Given the description of an element on the screen output the (x, y) to click on. 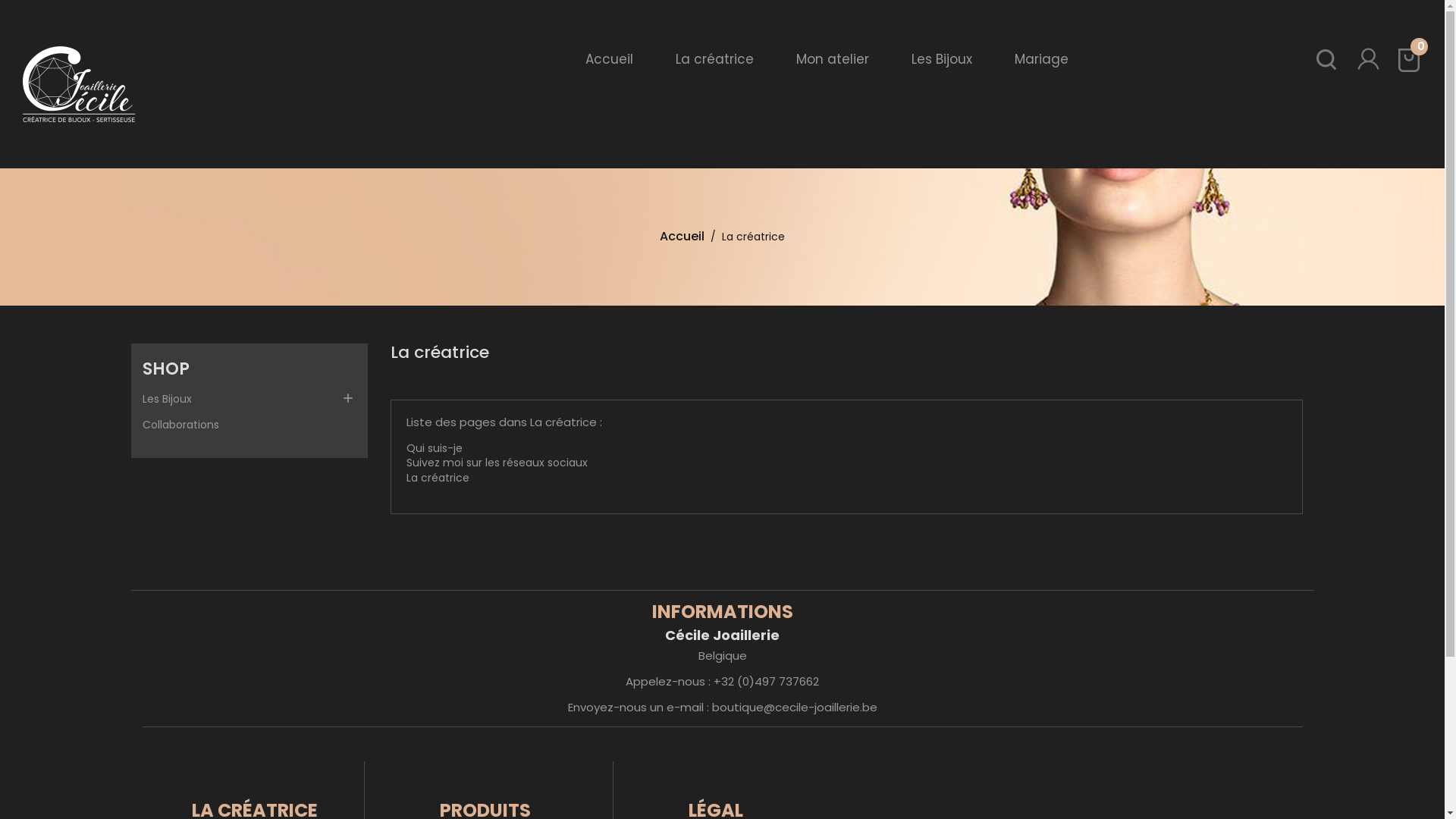
Collaborations Element type: text (249, 423)
Mariage Element type: text (1041, 62)
Accueil Element type: text (681, 235)
Qui suis-je Element type: text (434, 447)
SHOP Element type: text (249, 360)
boutique@cecile-joaillerie.be Element type: text (793, 707)
Mon atelier Element type: text (832, 62)
Les Bijoux Element type: text (941, 62)
Les Bijoux Element type: text (249, 397)
Accueil Element type: text (608, 62)
